Given the description of an element on the screen output the (x, y) to click on. 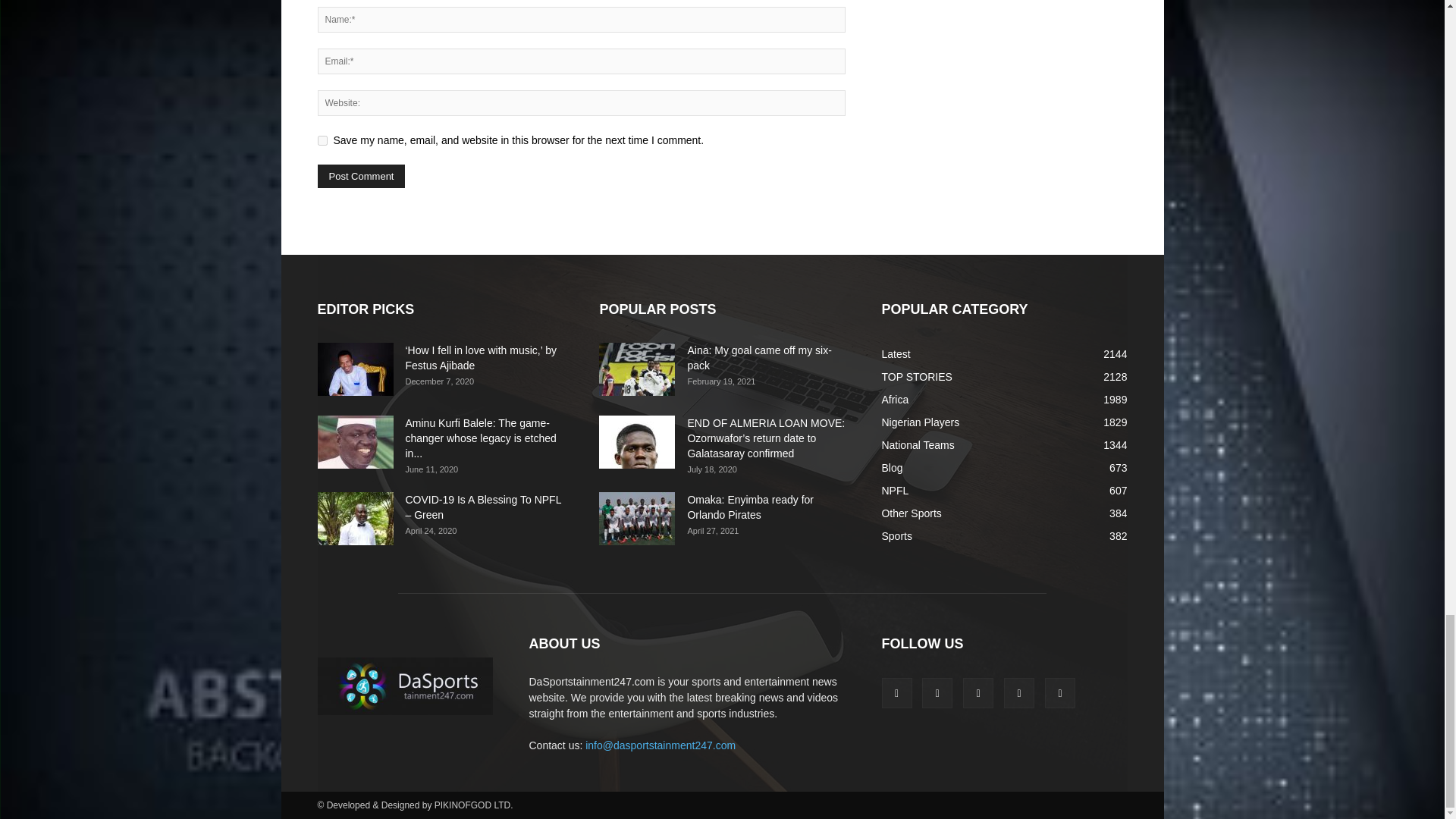
Post Comment (360, 176)
yes (321, 140)
